Given the description of an element on the screen output the (x, y) to click on. 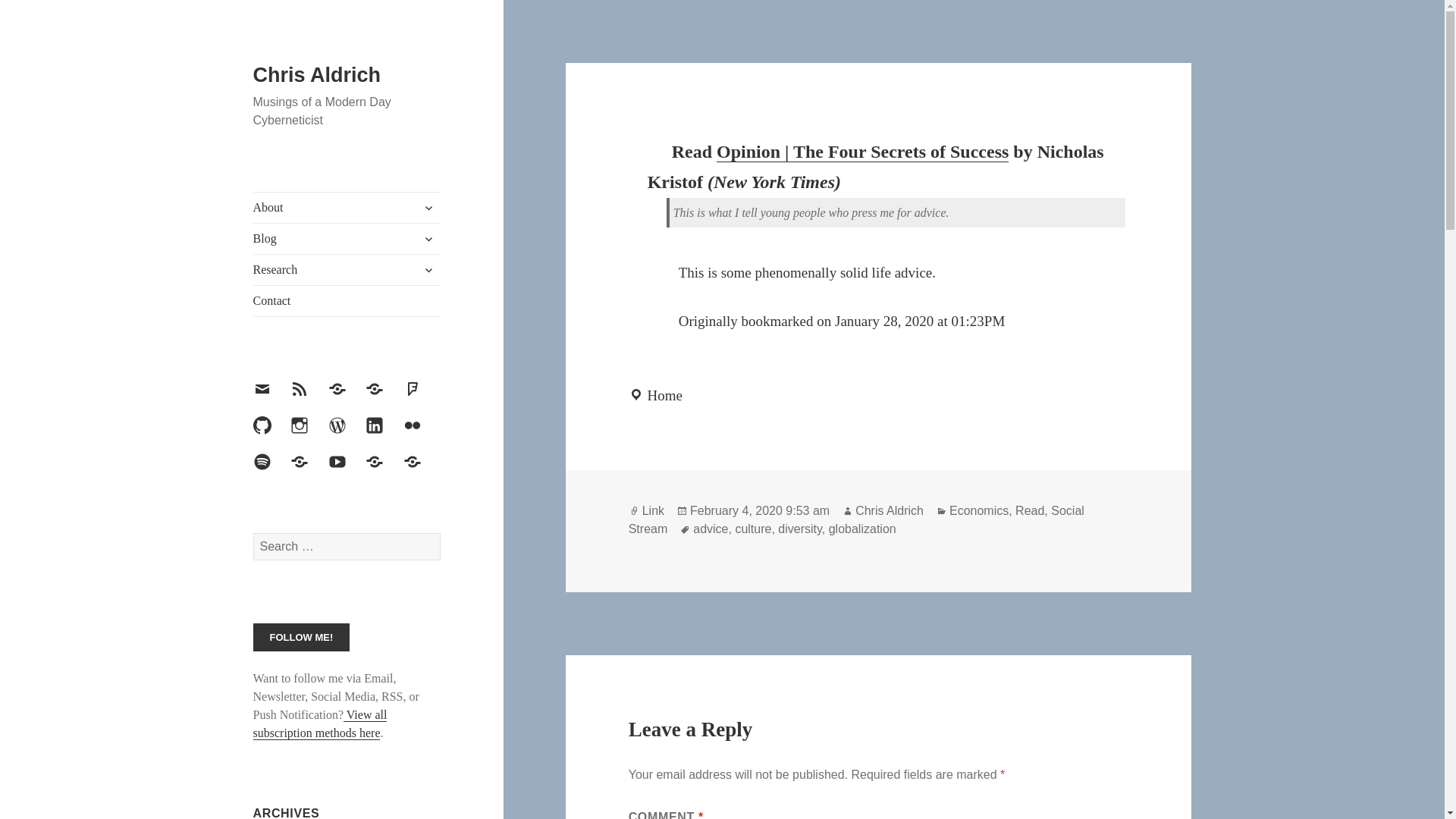
Follow Me! (301, 637)
About (347, 207)
expand child menu (428, 238)
Chris Aldrich (317, 74)
Blog (347, 238)
expand child menu (428, 207)
